Given the description of an element on the screen output the (x, y) to click on. 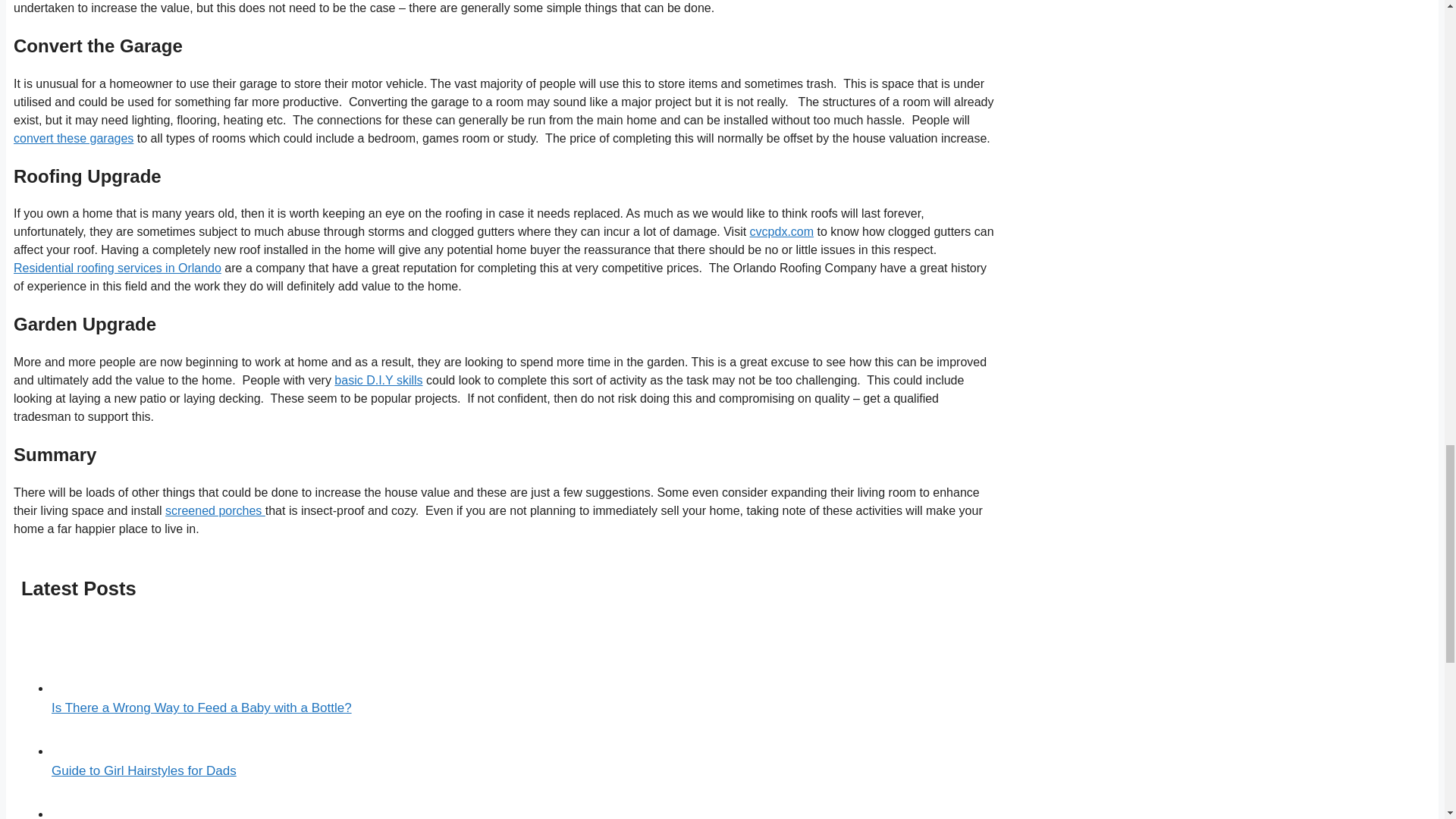
Is There a Wrong Way to Feed a Baby with a Bottle? (201, 707)
screened porches  (214, 510)
convert these garages (73, 137)
basic D.I.Y skills (378, 379)
Guide to Girl Hairstyles for Dads (142, 770)
cvcpdx.com (781, 231)
Residential roofing services in Orlando (117, 267)
